Given the description of an element on the screen output the (x, y) to click on. 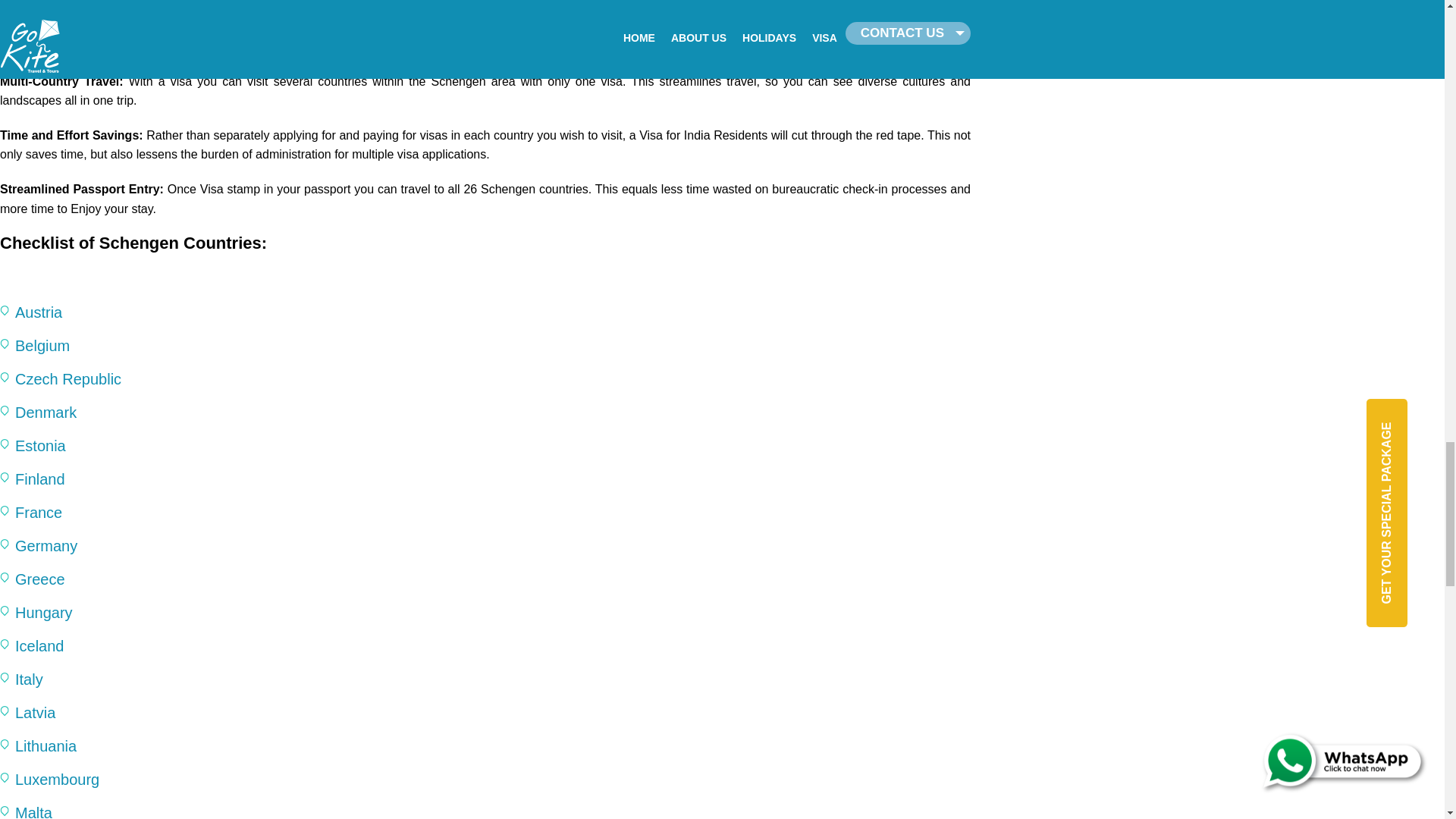
Latvia (34, 712)
Belgium (41, 345)
Hungary (43, 612)
Germany (45, 545)
Austria (38, 312)
France (38, 512)
Lithuania (45, 745)
Estonia (39, 445)
Malta (33, 811)
Italy (28, 678)
Denmark (45, 412)
Luxembourg (56, 779)
Finland (39, 478)
Iceland (39, 646)
Greece (39, 579)
